Given the description of an element on the screen output the (x, y) to click on. 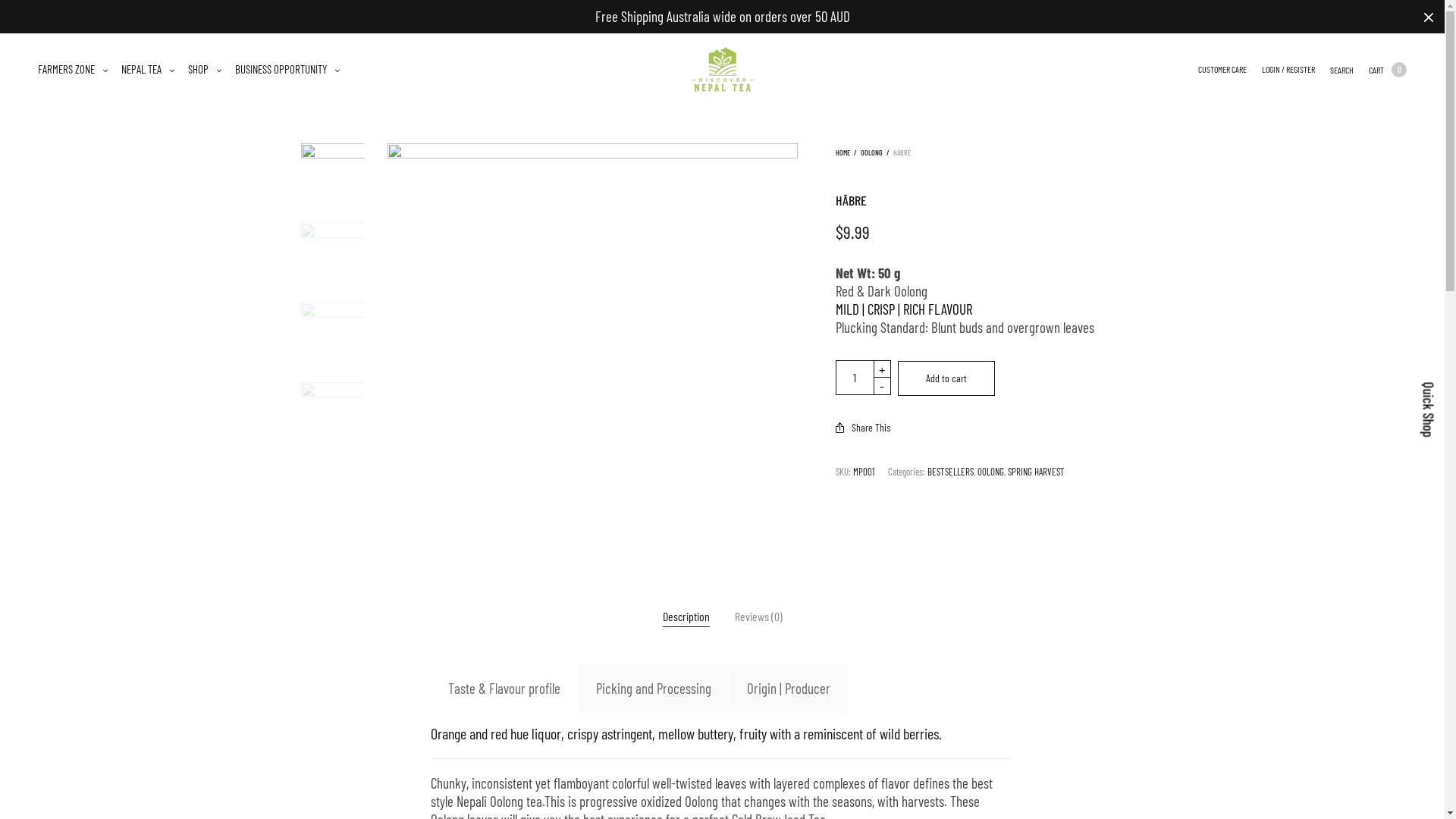
Qty Element type: hover (854, 377)
Picking and Processing Element type: text (653, 688)
habrepack Element type: hover (333, 414)
Reviews (0) Element type: text (757, 616)
Origin | Producer Element type: text (788, 688)
FARMERS ZONE Element type: text (72, 69)
CART
0 Element type: text (1387, 69)
LOGIN / REGISTER Element type: text (1287, 69)
BUSINESS OPPORTUNITY Element type: text (287, 69)
darkooloong_liquor_nepaltea Element type: hover (333, 254)
SPRING HARVEST Element type: text (1035, 471)
CUSTOMER CARE Element type: text (1222, 69)
OOLONG Element type: text (990, 471)
Share This Element type: text (862, 427)
Taste & Flavour profile Element type: text (503, 688)
OOLONG Element type: text (871, 151)
Description Element type: text (685, 616)
darkooloong_nepaltea Element type: hover (592, 348)
SEARCH Element type: text (1341, 69)
darkooloong_lid_nepaltea Element type: hover (333, 334)
BESTSELLERS Element type: text (950, 471)
HOME Element type: text (842, 151)
Search Element type: text (12, 5)
NEPAL TEA Element type: text (147, 69)
SHOP Element type: text (204, 69)
Add to cart Element type: text (945, 377)
